Given the description of an element on the screen output the (x, y) to click on. 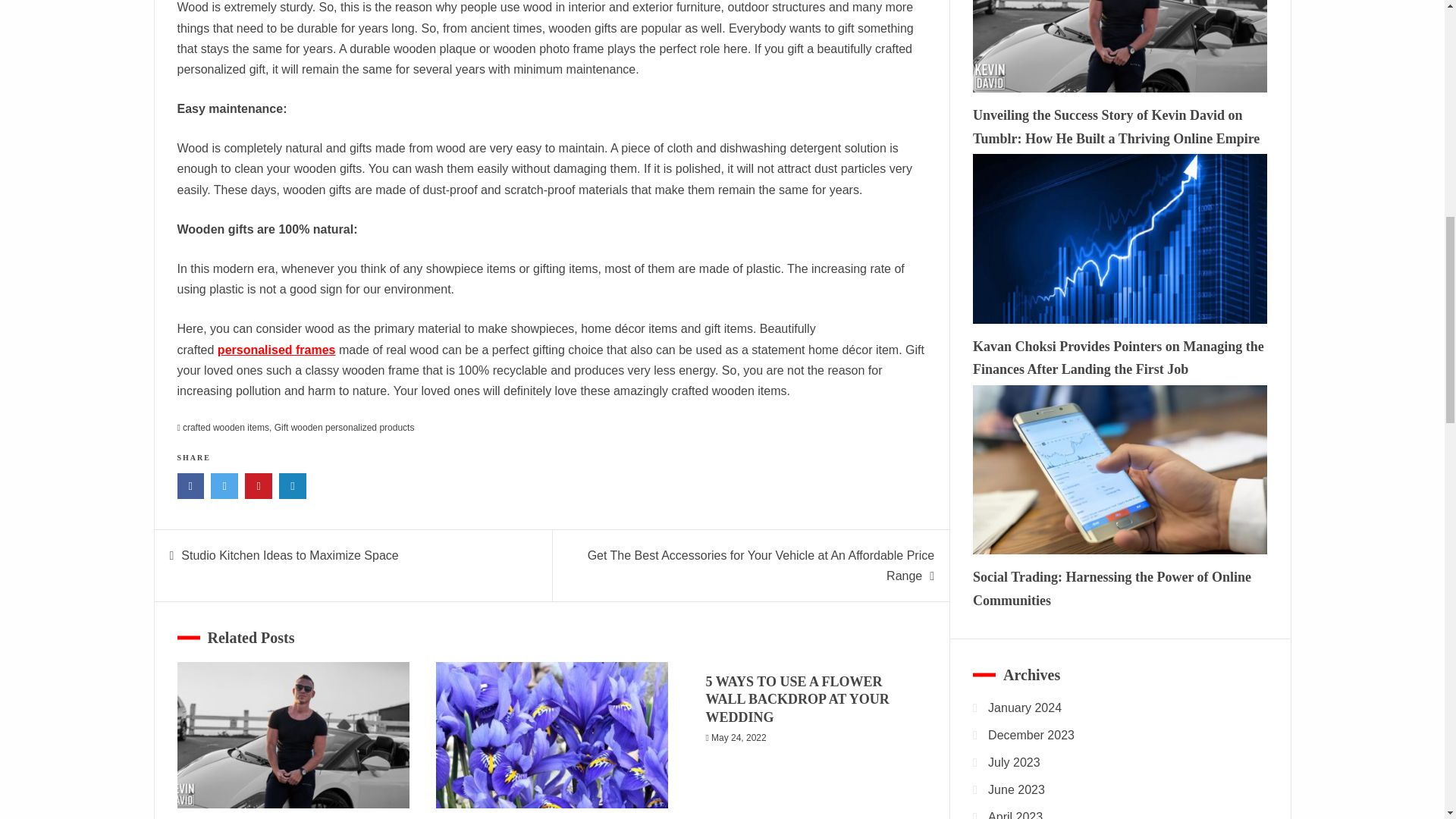
crafted wooden items (226, 427)
Studio Kitchen Ideas to Maximize Space (288, 554)
personalised frames (276, 349)
Gift wooden personalized products (344, 427)
